Given the description of an element on the screen output the (x, y) to click on. 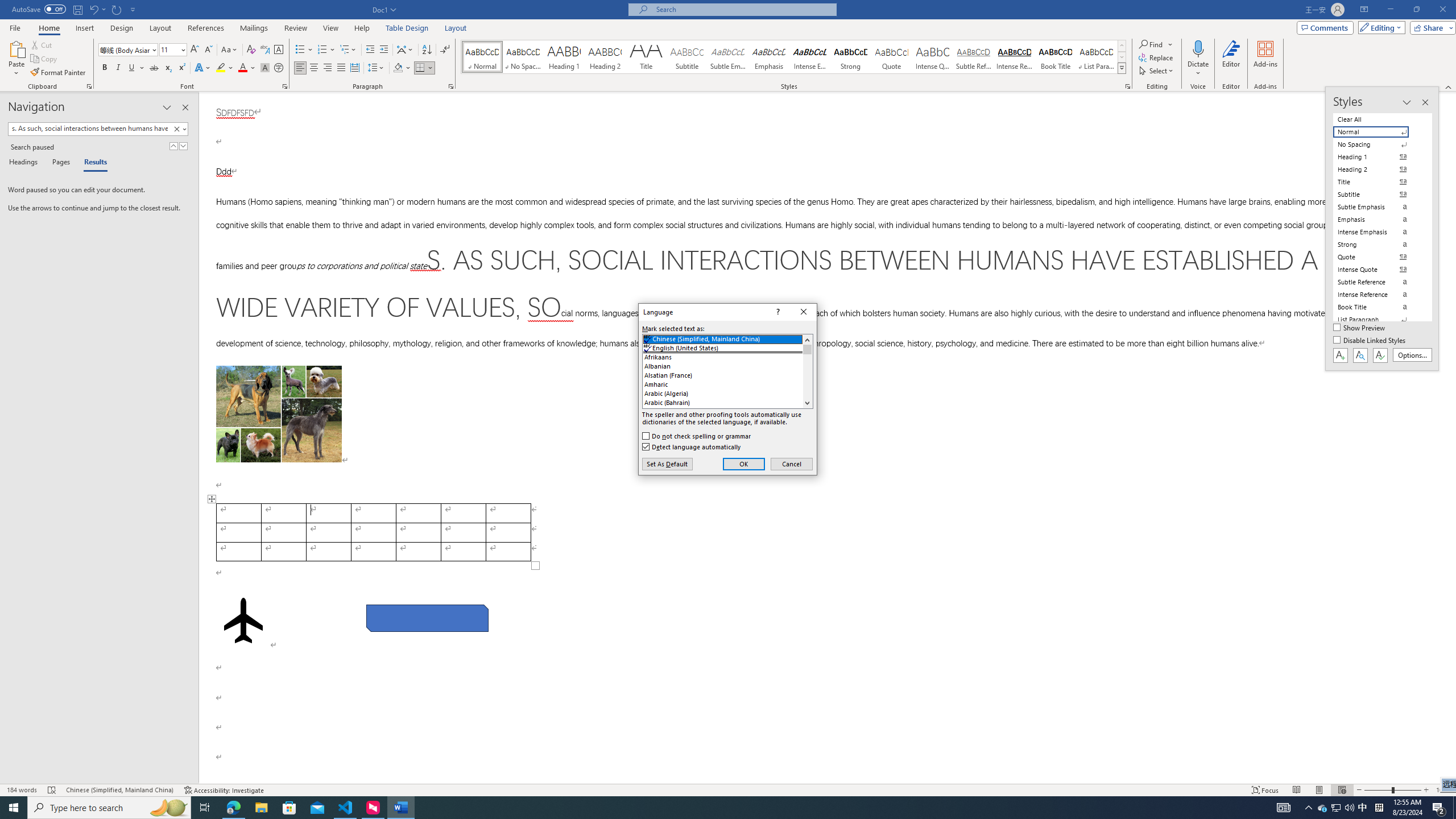
Disable Linked Styles (1370, 340)
Word - 1 running window (400, 807)
Intense Emphasis (809, 56)
Repeat Style (117, 9)
